Given the description of an element on the screen output the (x, y) to click on. 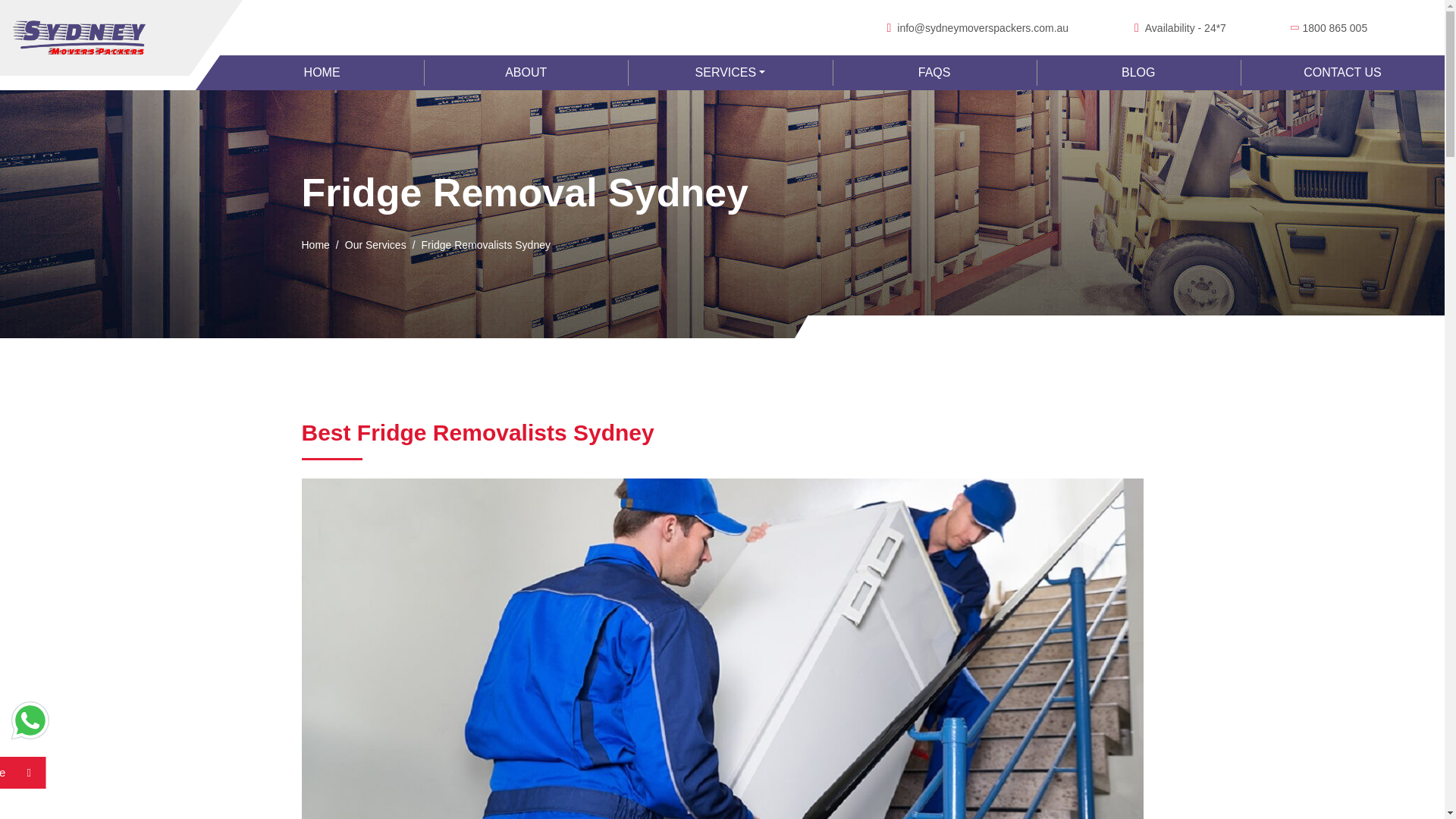
Sydney Movers Packers Customer Care Contact Number (1335, 28)
Sydney Movers Packers - Best Removalists Company In Sydney (79, 38)
Sydney Movers Packers - The Best Moving Company In Sydney (321, 72)
About Sydney Movers Packers (525, 72)
1800 865 005 (1335, 28)
Home (315, 245)
Sydney Movers Packers Customer Care Contact Email ID (982, 28)
Our Services (375, 245)
FAQS (934, 72)
HOME (321, 72)
